Given the description of an element on the screen output the (x, y) to click on. 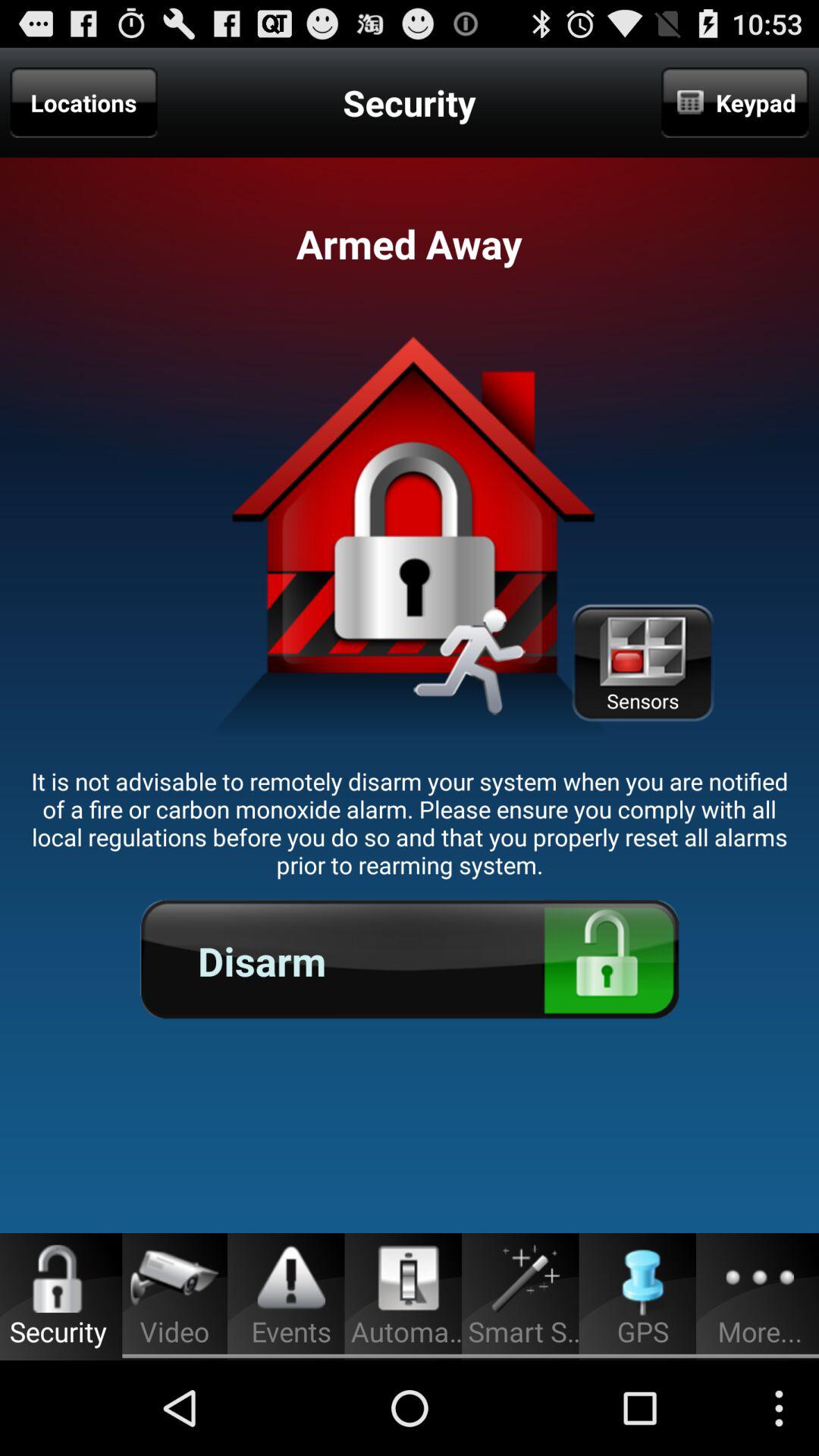
press item on the right (642, 662)
